Given the description of an element on the screen output the (x, y) to click on. 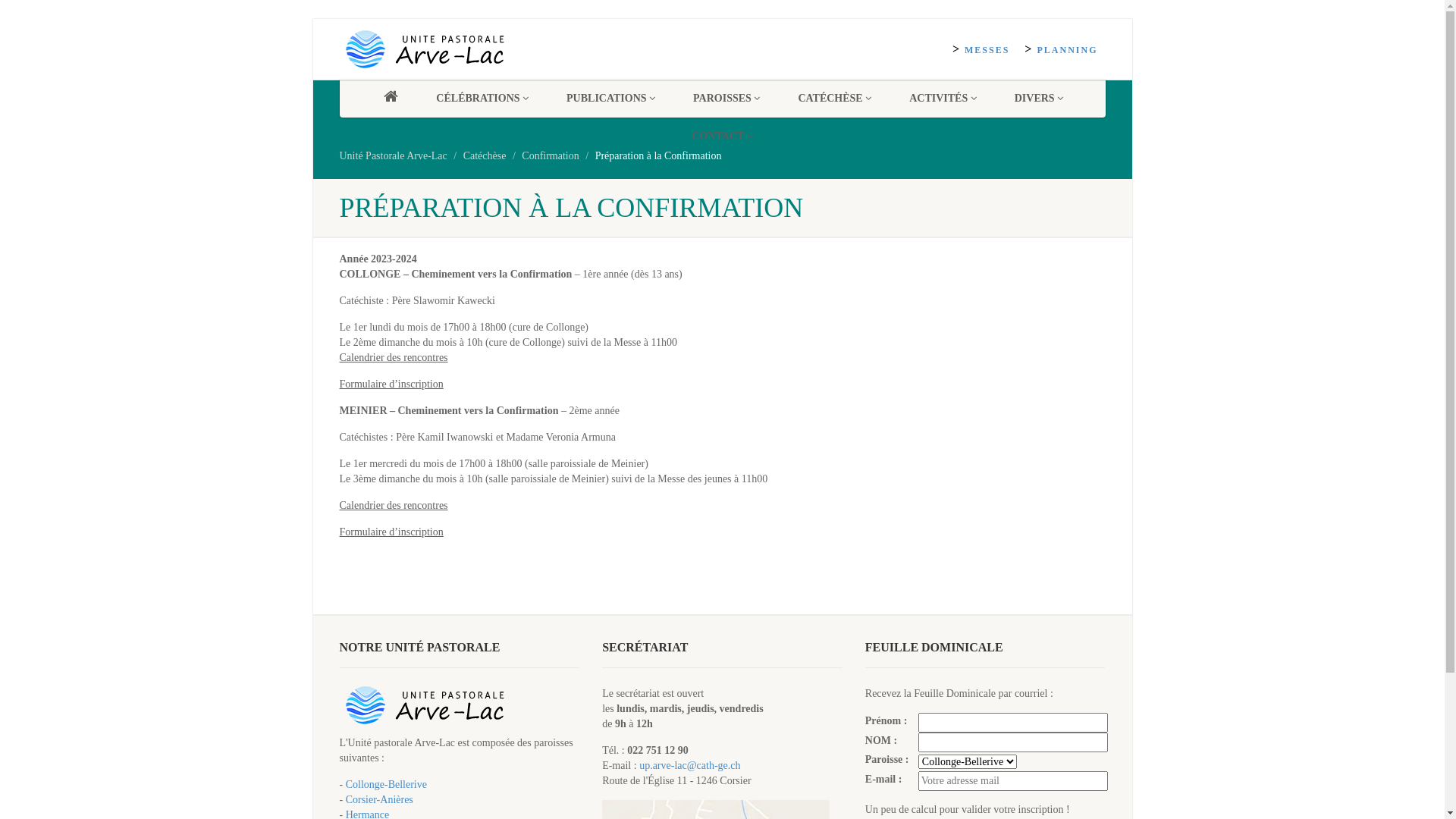
MESSES Element type: text (980, 49)
Calendrier des rencontres Element type: text (393, 505)
DIVERS Element type: text (1038, 98)
PLANNING Element type: text (1060, 49)
  Element type: text (389, 98)
Confirmation Element type: text (549, 155)
PUBLICATIONS Element type: text (610, 98)
Collonge-Bellerive Element type: text (385, 784)
PAROISSES Element type: text (726, 98)
CONTACT Element type: text (721, 136)
Logo Element type: hover (459, 49)
up.arve-lac@cath-ge.ch Element type: text (689, 765)
Calendrier des rencontres Element type: text (393, 357)
